Given the description of an element on the screen output the (x, y) to click on. 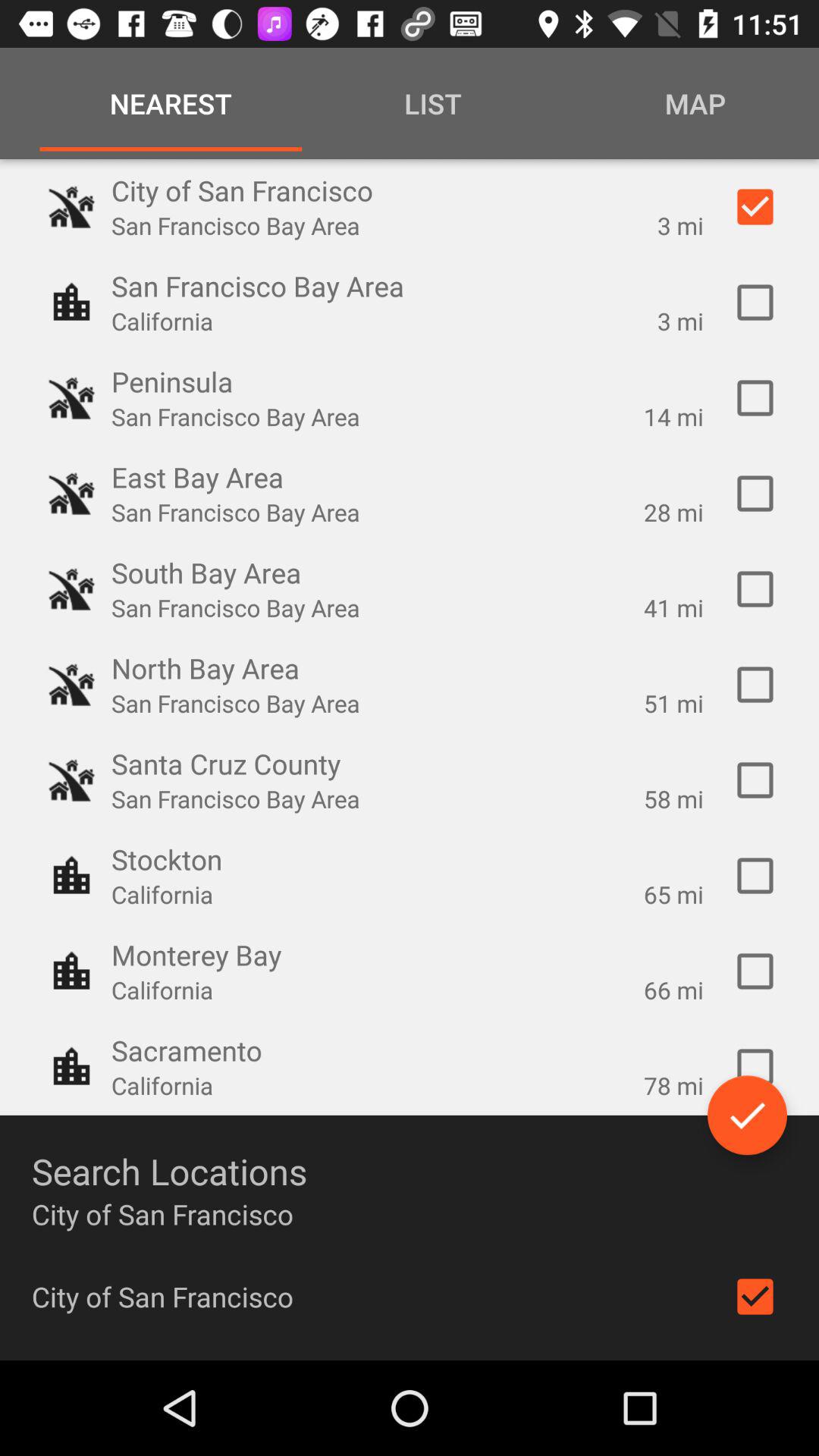
select peninsula (755, 397)
